Given the description of an element on the screen output the (x, y) to click on. 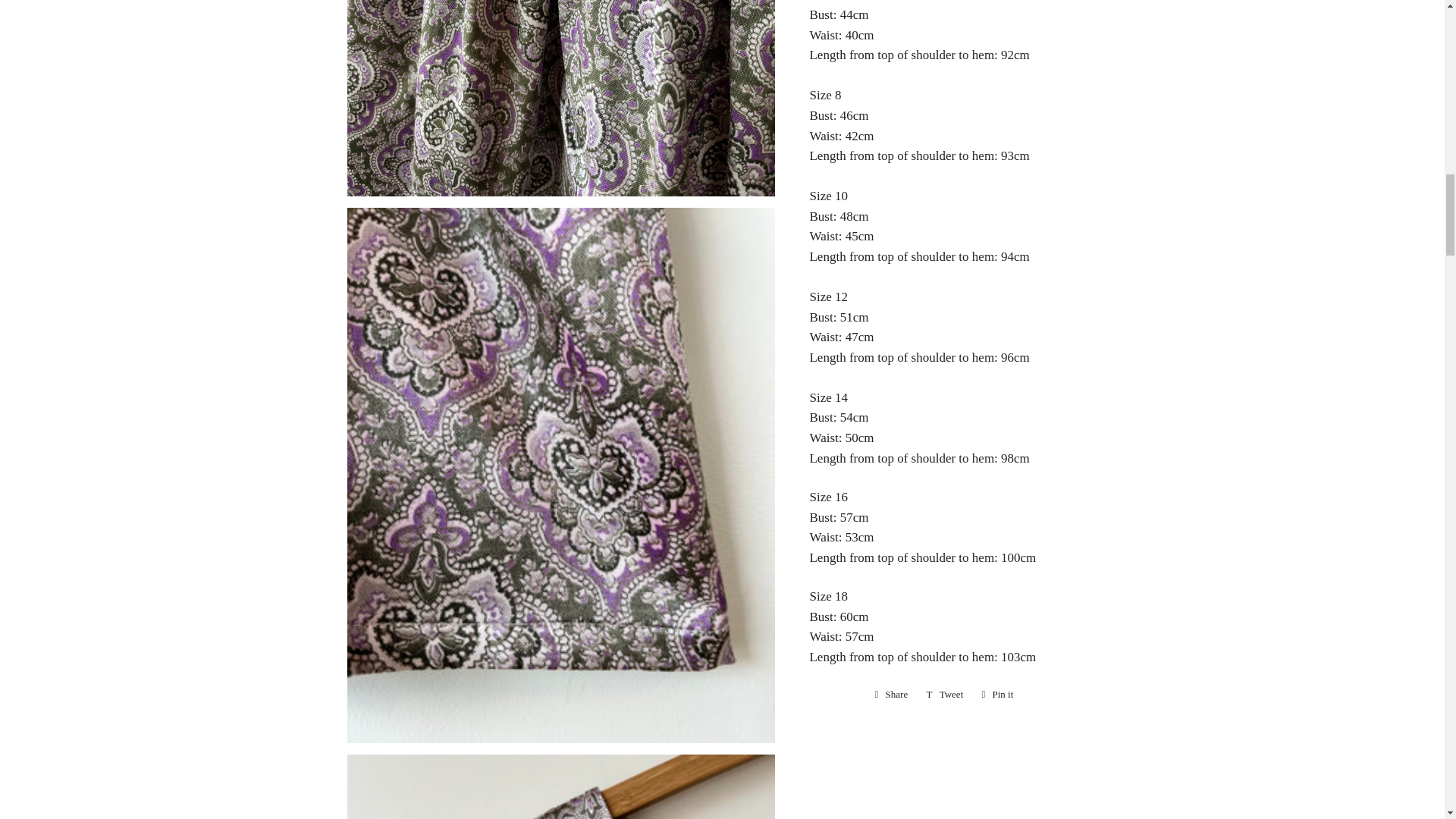
Share on Facebook (891, 694)
Tweet on Twitter (891, 694)
Pin on Pinterest (997, 694)
